Given the description of an element on the screen output the (x, y) to click on. 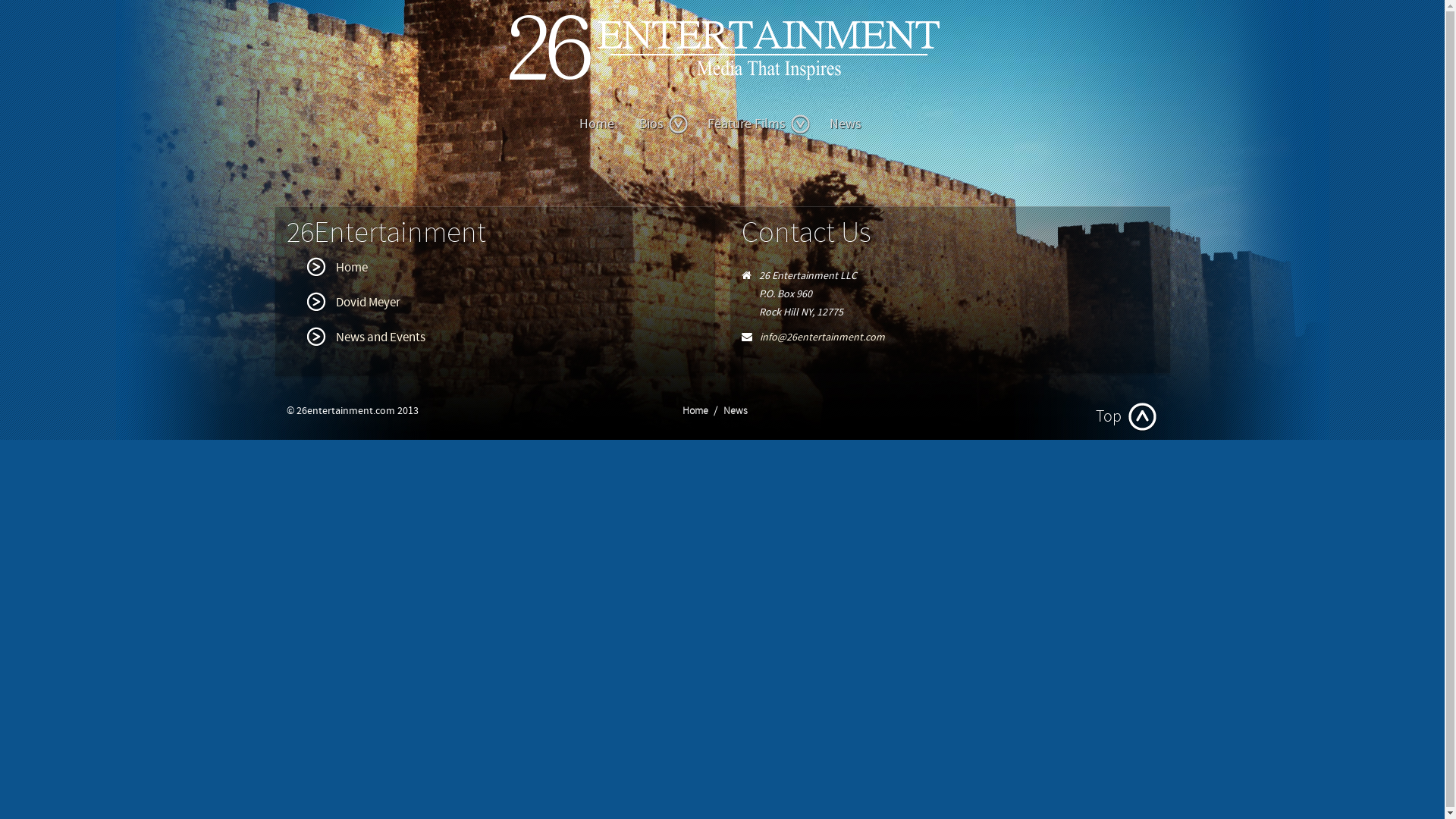
Home Element type: text (596, 124)
Feature Films Element type: text (755, 124)
News Element type: text (845, 124)
Dovid Meyer Element type: text (351, 302)
info@26entertainment.com Element type: text (821, 337)
News Element type: text (735, 410)
Home Element type: text (695, 410)
News and Events Element type: text (364, 337)
Bios Element type: text (660, 124)
Home Element type: text (335, 267)
Top Element type: text (1126, 416)
